Given the description of an element on the screen output the (x, y) to click on. 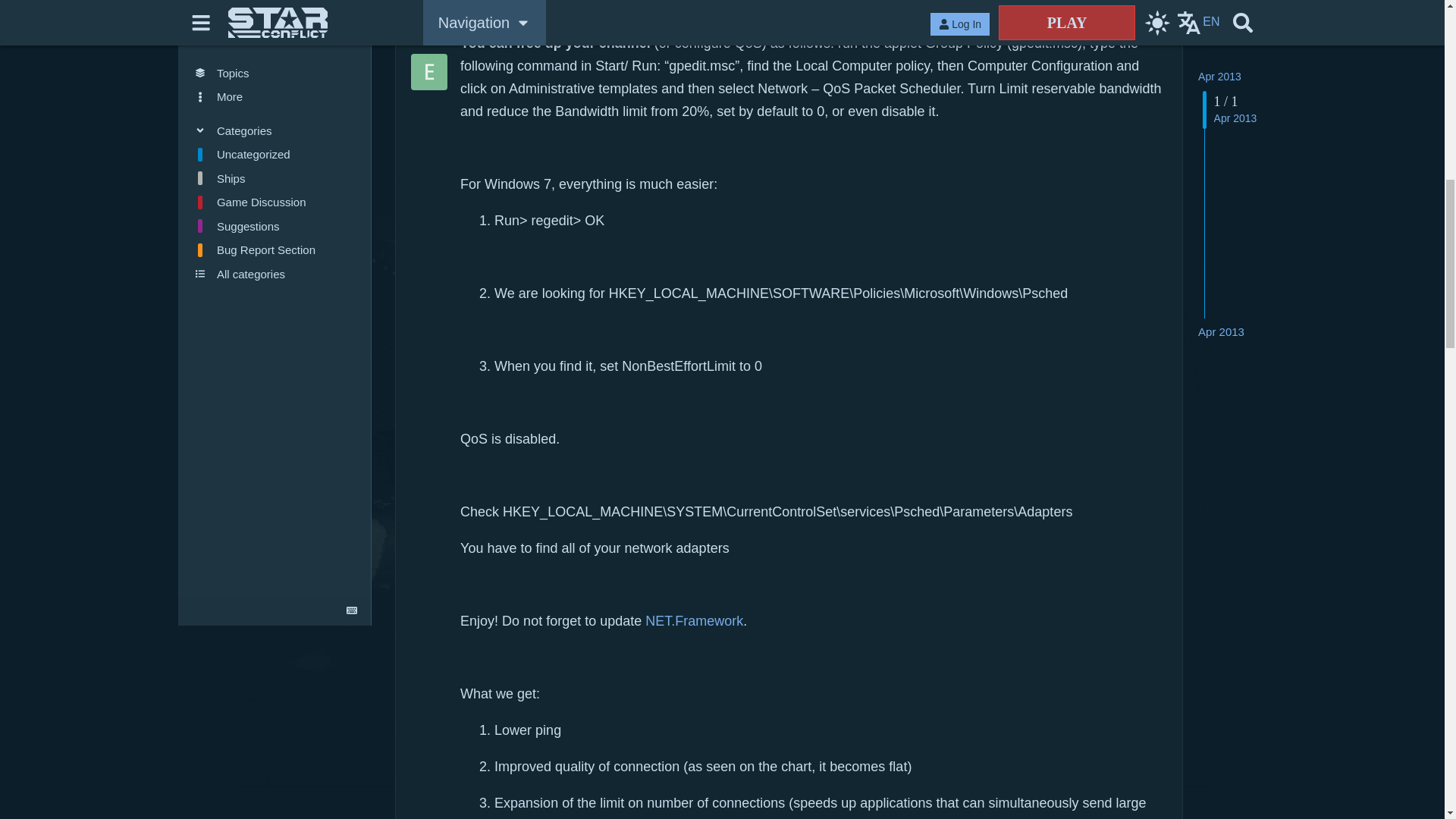
NET.Framework (693, 620)
